Given the description of an element on the screen output the (x, y) to click on. 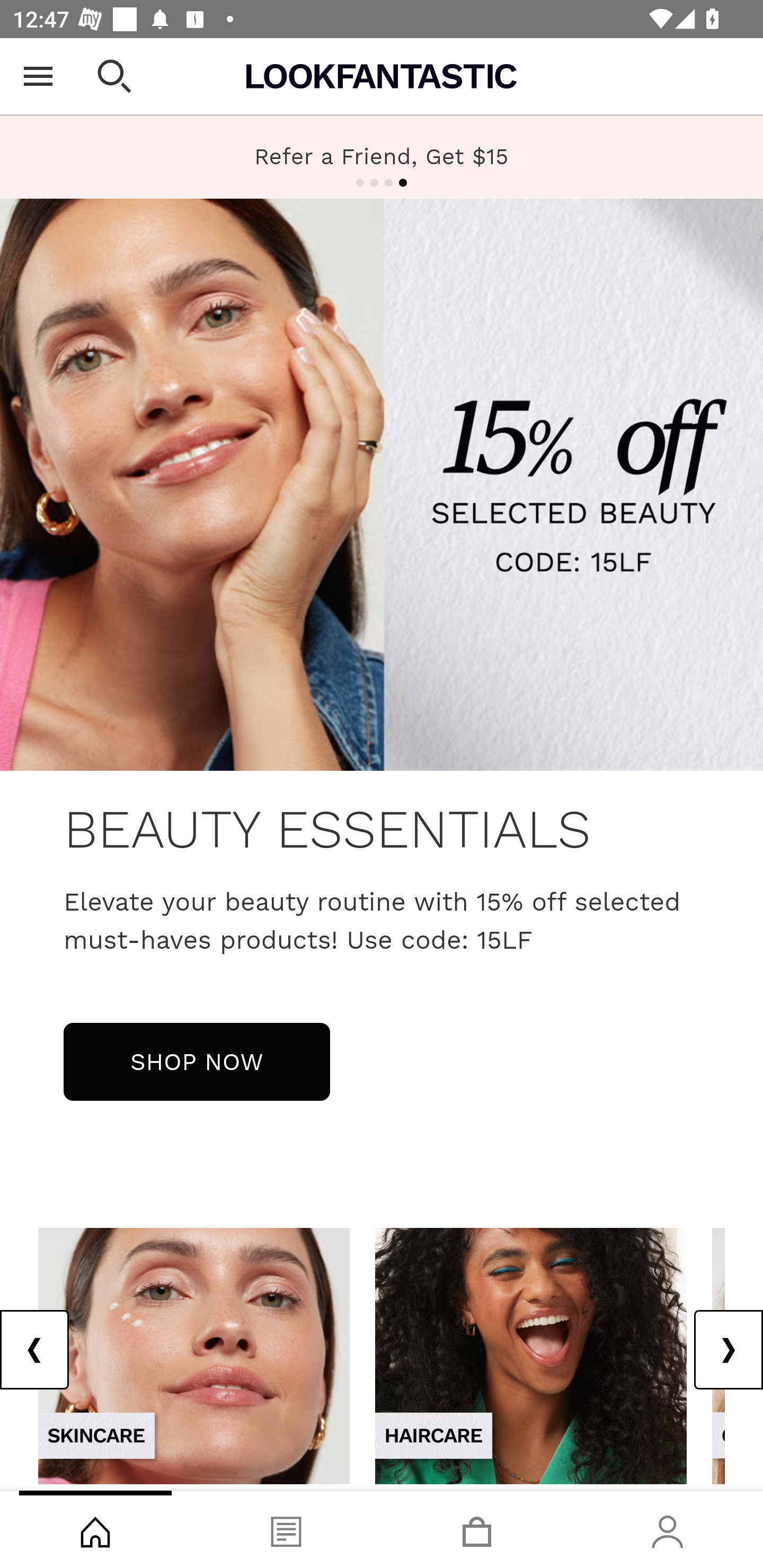
Open Menu (38, 75)
Open search (114, 75)
Lookfantastic USA (381, 75)
SHOP NOW (196, 1061)
view-all (193, 1355)
view-all (530, 1355)
Previous (35, 1349)
Next (727, 1349)
Shop, tab, 1 of 4 (95, 1529)
Blog, tab, 2 of 4 (285, 1529)
Basket, tab, 3 of 4 (476, 1529)
Account, tab, 4 of 4 (667, 1529)
